Given the description of an element on the screen output the (x, y) to click on. 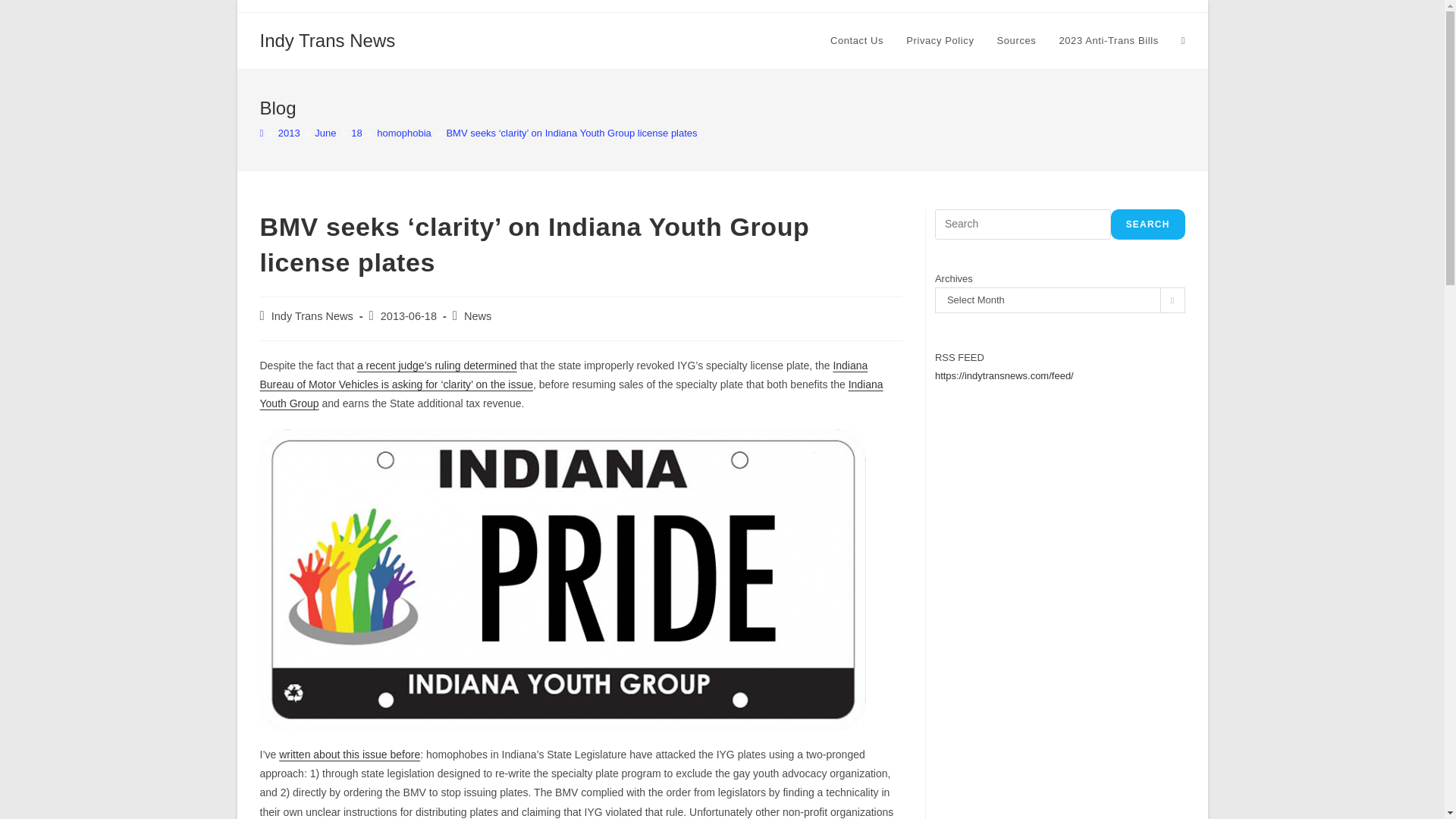
18 (355, 132)
Indy Star: BMV asks for 'clarity' (563, 374)
News (478, 316)
Sources (1016, 40)
Indiana Youth Group (570, 393)
Indiana Youth Group (570, 393)
2023 Anti-Trans Bills (1107, 40)
Privacy Policy (940, 40)
Indy Trans News (311, 316)
2013 (288, 132)
